Given the description of an element on the screen output the (x, y) to click on. 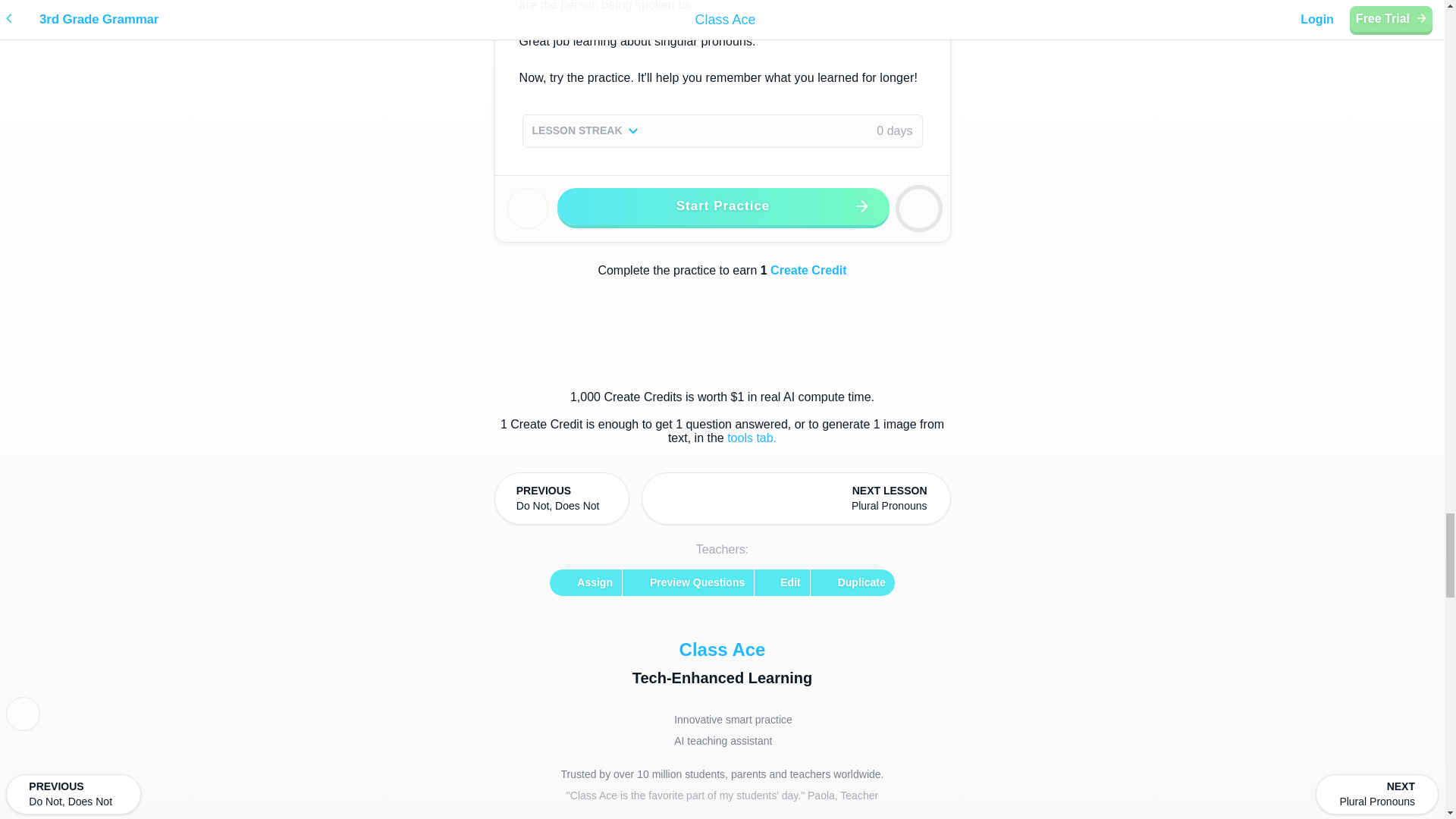
Preview Questions (796, 498)
Edit (688, 582)
